Given the description of an element on the screen output the (x, y) to click on. 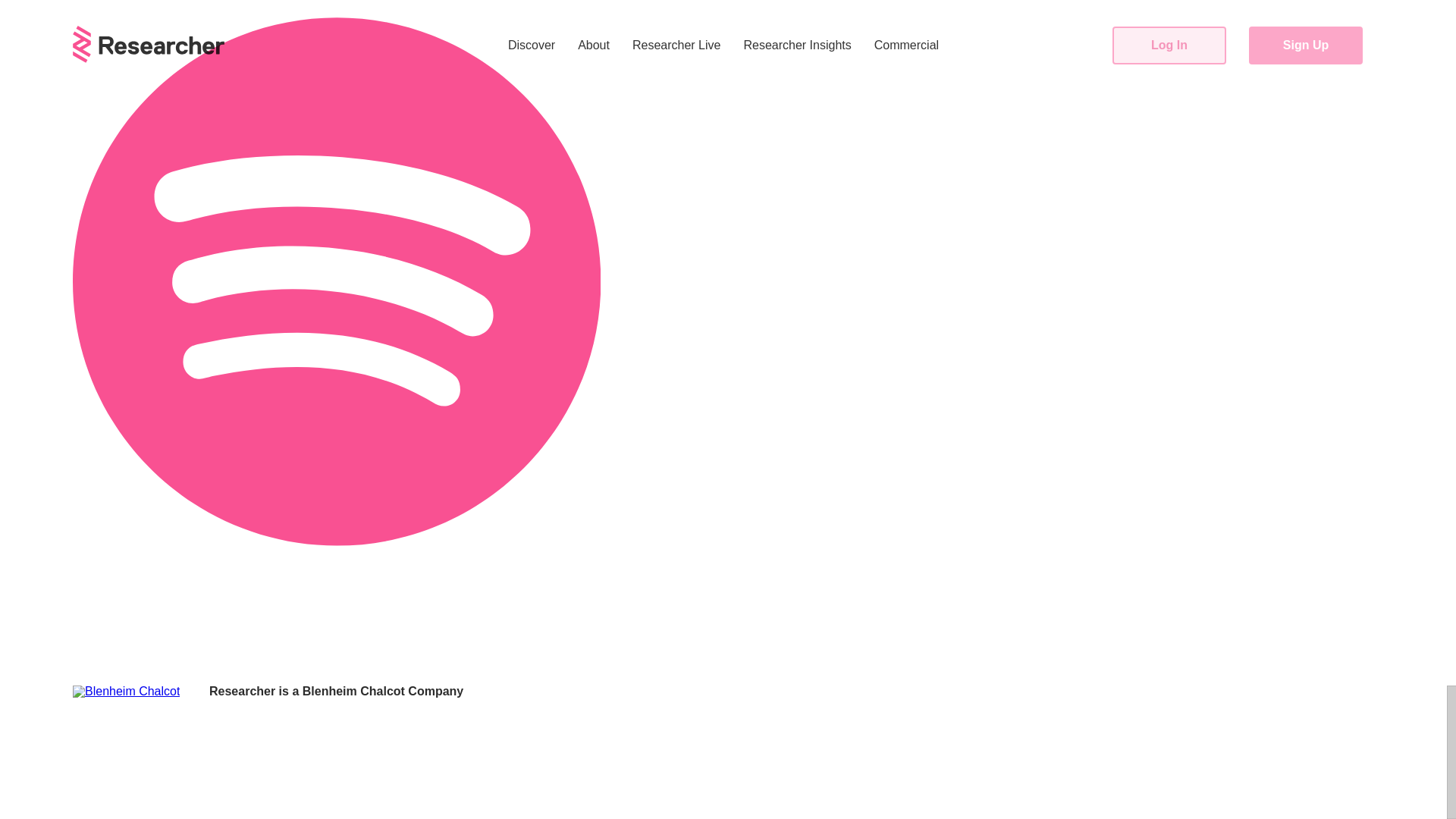
Researcher (242, 690)
Blenheim Chalcot (353, 690)
